Given the description of an element on the screen output the (x, y) to click on. 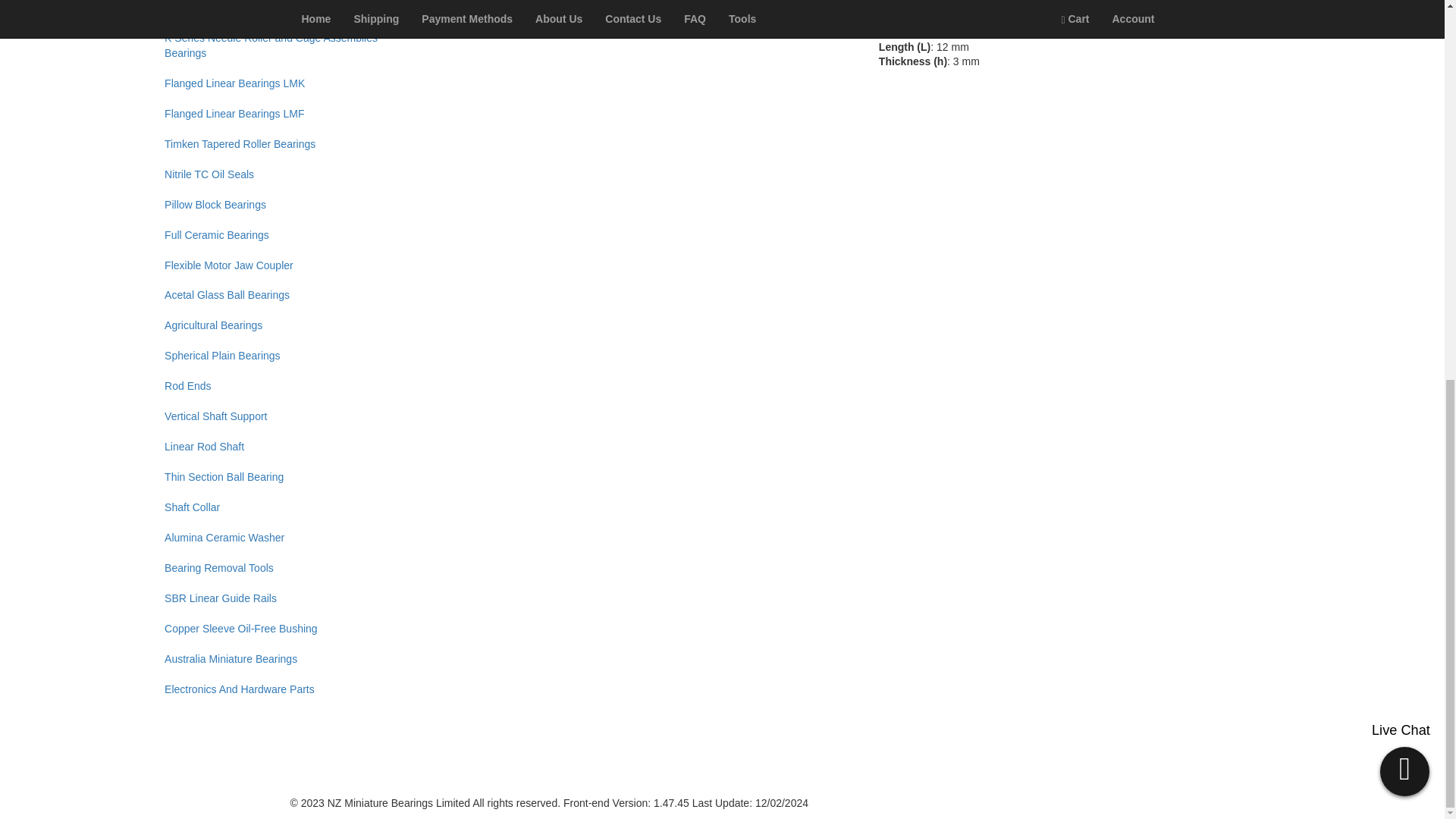
Pillow Block Bearings (286, 205)
Nitrile TC Oil Seals (286, 174)
Graphite Brass Bushing Straight (286, 11)
Acetal Glass Ball Bearings (286, 295)
Full Ceramic Bearings (286, 235)
Timken Tapered Roller Bearings (286, 144)
K Series Needle Roller and Cage Assemblies Bearings (286, 45)
Flanged Linear Bearings LMK (286, 83)
Flexible Motor Jaw Coupler (286, 265)
Flanged Linear Bearings LMF (286, 114)
